Given the description of an element on the screen output the (x, y) to click on. 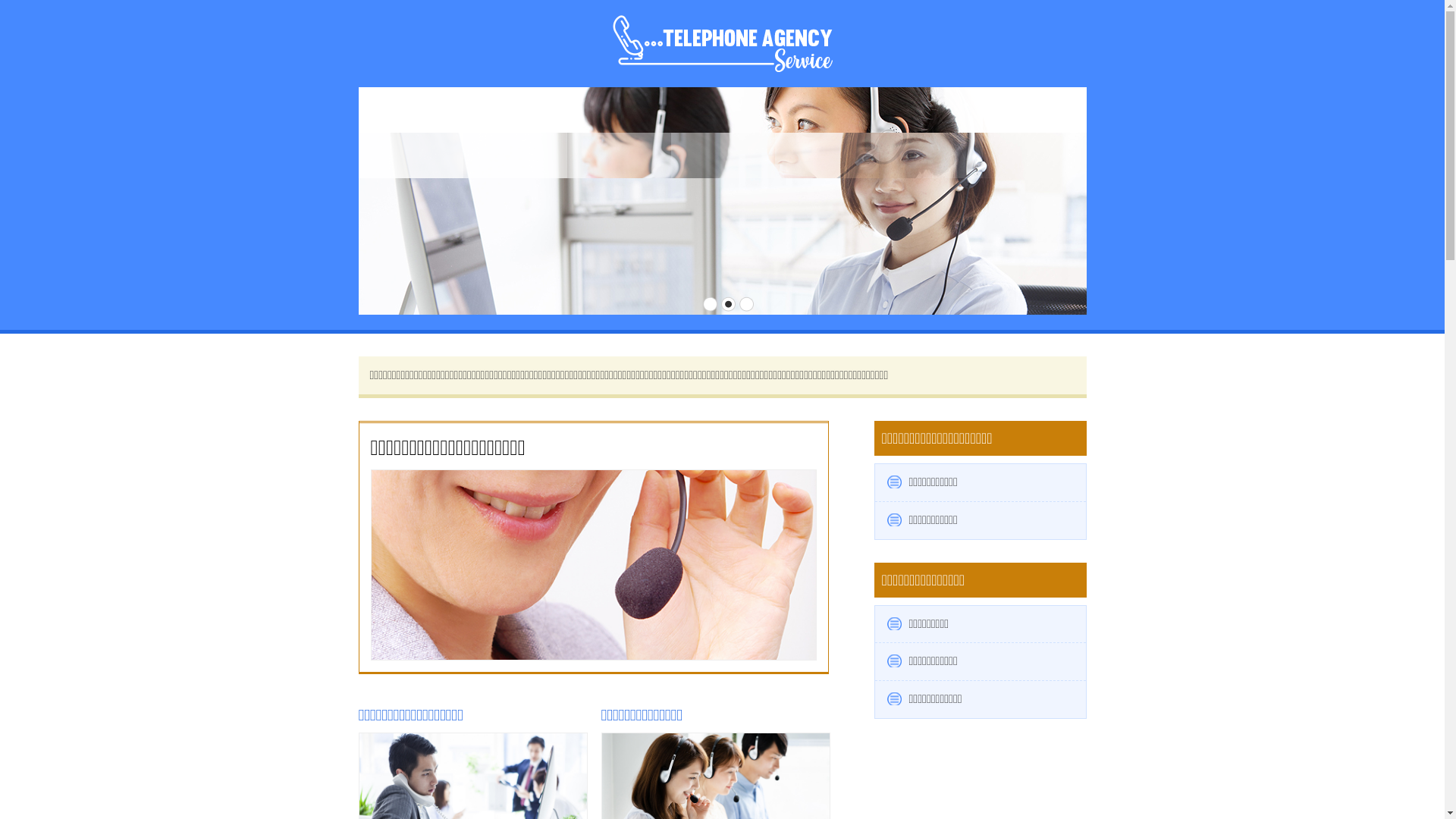
3 Element type: text (746, 303)
2 Element type: text (728, 303)
1 Element type: text (710, 303)
